Given the description of an element on the screen output the (x, y) to click on. 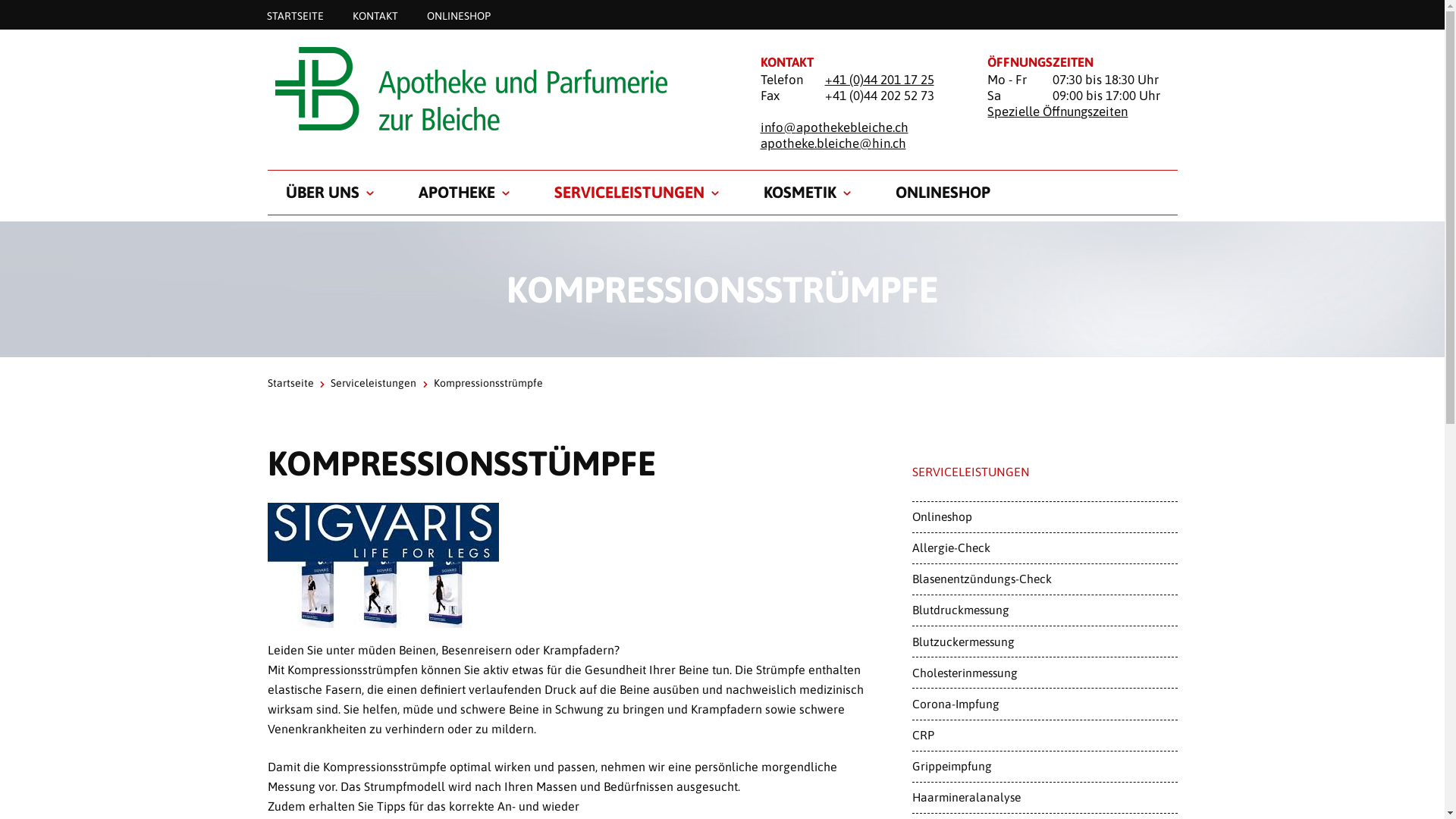
CRP Element type: text (1043, 735)
SERVICELEISTUNGEN Element type: text (628, 192)
apotheke.bleiche@hin.ch Element type: text (832, 142)
Startseite Element type: text (289, 382)
APOTHEKE Element type: text (456, 192)
+41 (0)44 201 17 25 Element type: text (879, 79)
Blutzuckermessung Element type: text (1043, 641)
Grippeimpfung Element type: text (1043, 766)
KOSMETIK Element type: text (798, 192)
KONTAKT Element type: text (375, 15)
info@apothekebleiche.ch Element type: text (833, 126)
Haarmineralanalyse Element type: text (1043, 797)
Cholesterinmessung Element type: text (1043, 672)
Corona-Impfung Element type: text (1043, 703)
Onlineshop Element type: text (1043, 517)
Startseite Element type: hover (493, 88)
ONLINESHOP Element type: text (941, 192)
Serviceleistungen Element type: text (373, 382)
Blutdruckmessung Element type: text (1043, 610)
ONLINESHOP Element type: text (458, 15)
Allergie-Check Element type: text (1043, 548)
STARTSEITE Element type: text (294, 15)
